Given the description of an element on the screen output the (x, y) to click on. 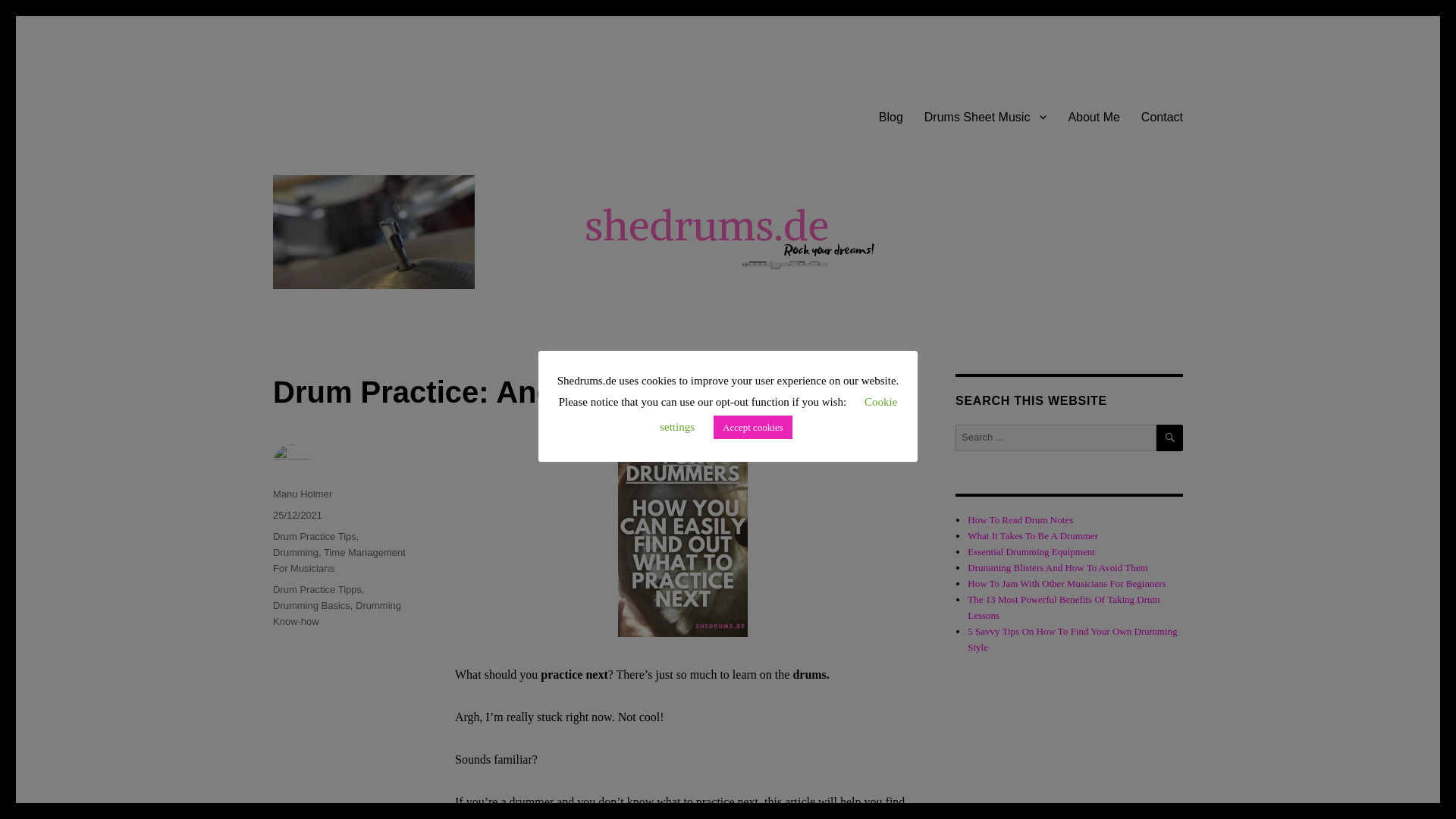
Drum Practice Tipps (317, 589)
Contact (1162, 116)
Drumming (295, 552)
What It Takes To Be A Drummer (1032, 535)
About Me (1093, 116)
Drumming Know-how (337, 613)
Blog (890, 116)
Drum Practice Tips (314, 536)
How To Read Drum Notes (1020, 519)
Time Management For Musicians (339, 560)
Manu Holmer (302, 493)
Drums Sheet Music (986, 116)
SEARCH (1169, 438)
Drumming Basics (311, 604)
sHe druMs: Rock The Kit! (402, 92)
